Given the description of an element on the screen output the (x, y) to click on. 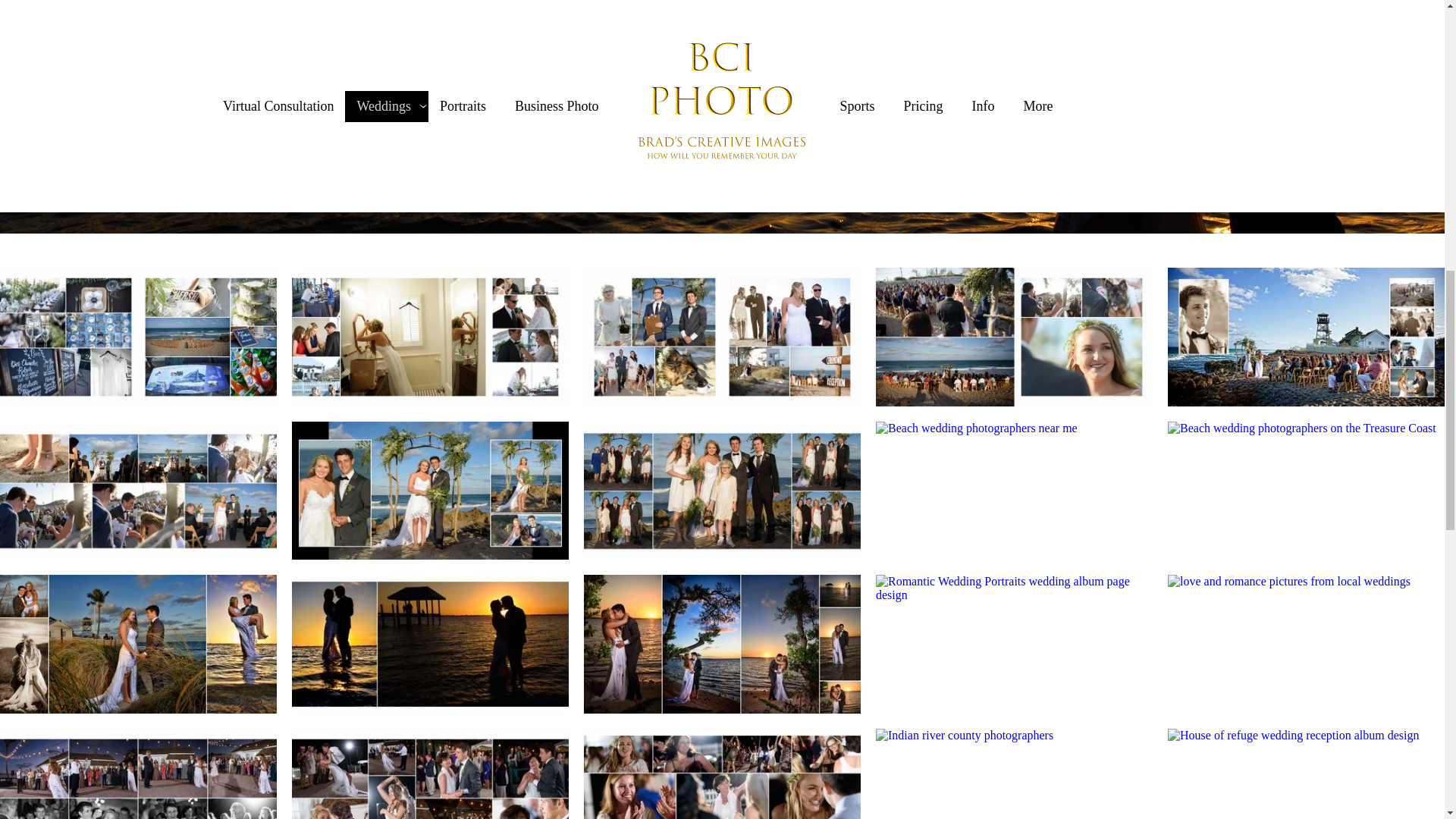
wedding album from House of Refuge (430, 336)
romantic photographers on the treasure coast (138, 643)
cool bridal album page designs (138, 773)
Who is best wedding photographer on the treasure coast (138, 336)
Wedding Ceremony pix from House of Refuge (138, 490)
